Given the description of an element on the screen output the (x, y) to click on. 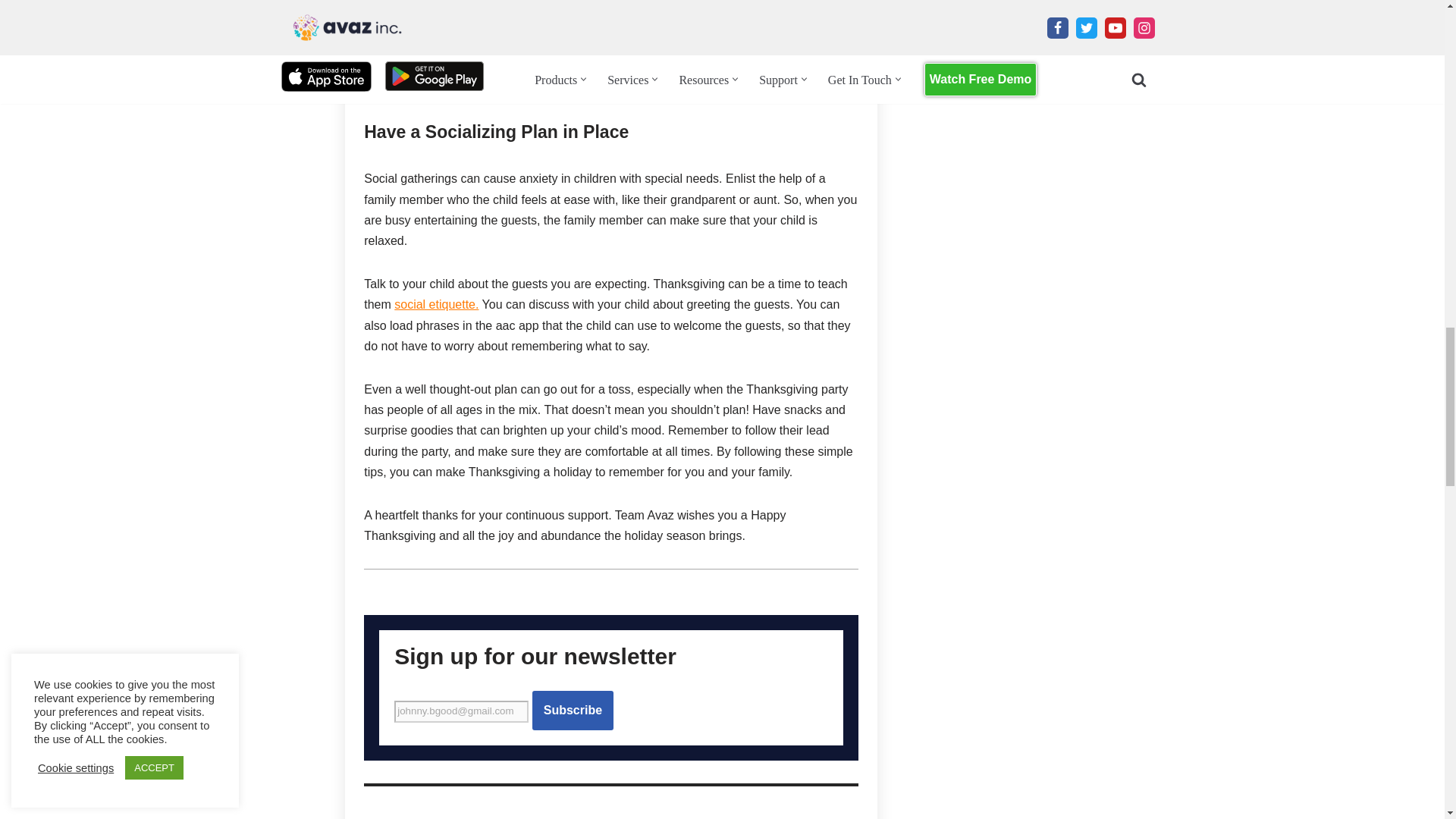
Subscribe (572, 710)
